Given the description of an element on the screen output the (x, y) to click on. 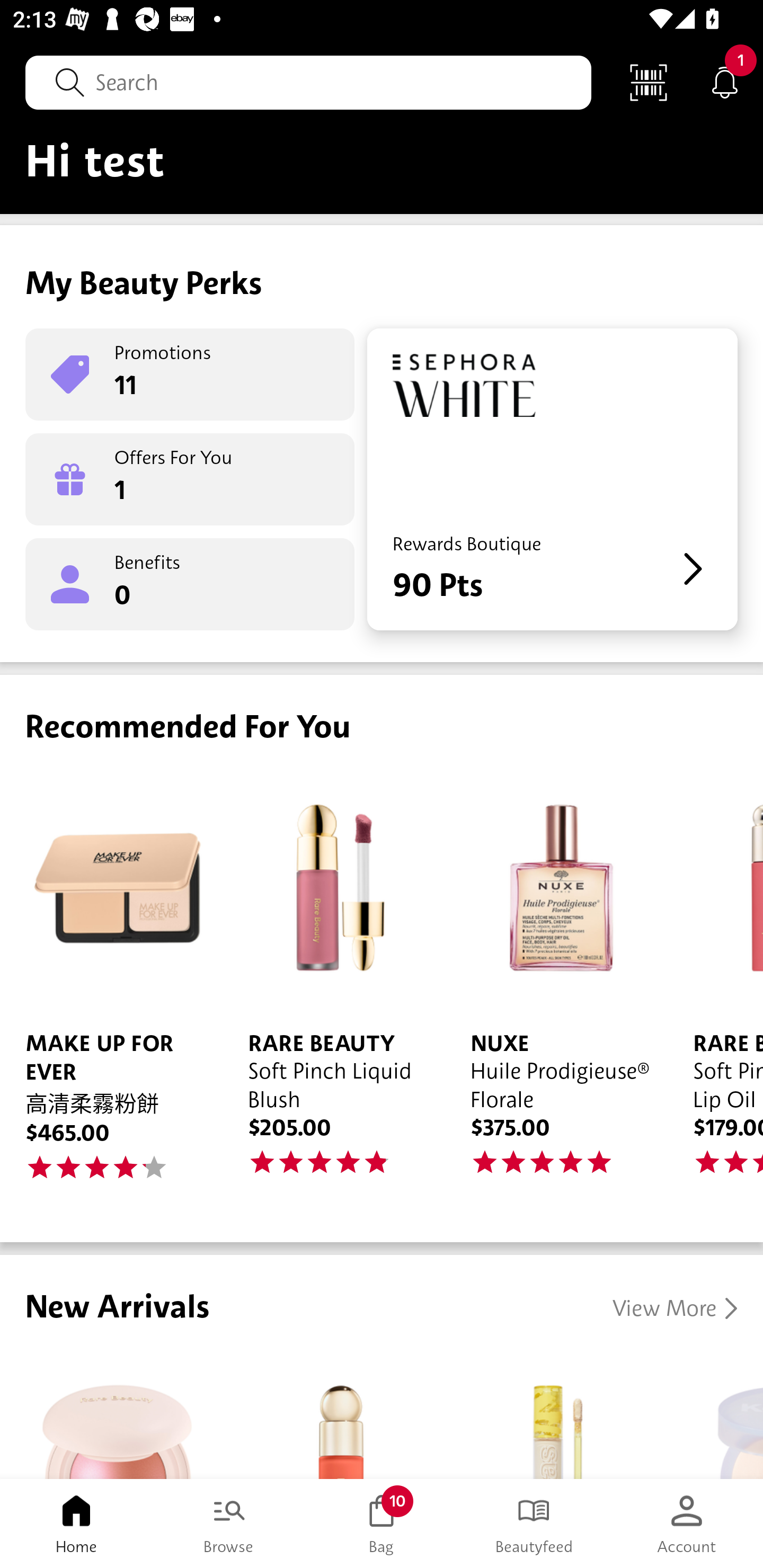
Scan Code (648, 81)
Notifications (724, 81)
Search (308, 81)
Promotions 11 (189, 373)
Rewards Boutique 90 Pts (552, 478)
Offers For You 1 (189, 478)
Benefits 0 (189, 583)
MAKE UP FOR EVER 高清柔霧粉餅 $465.00 42.0 (111, 987)
RARE BEAUTY Soft Pinch Liquid Blush $205.00 48.0 (333, 987)
New Arrivals View More (381, 1366)
View More (674, 1308)
Browse (228, 1523)
Bag 10 Bag (381, 1523)
Beautyfeed (533, 1523)
Account (686, 1523)
